Given the description of an element on the screen output the (x, y) to click on. 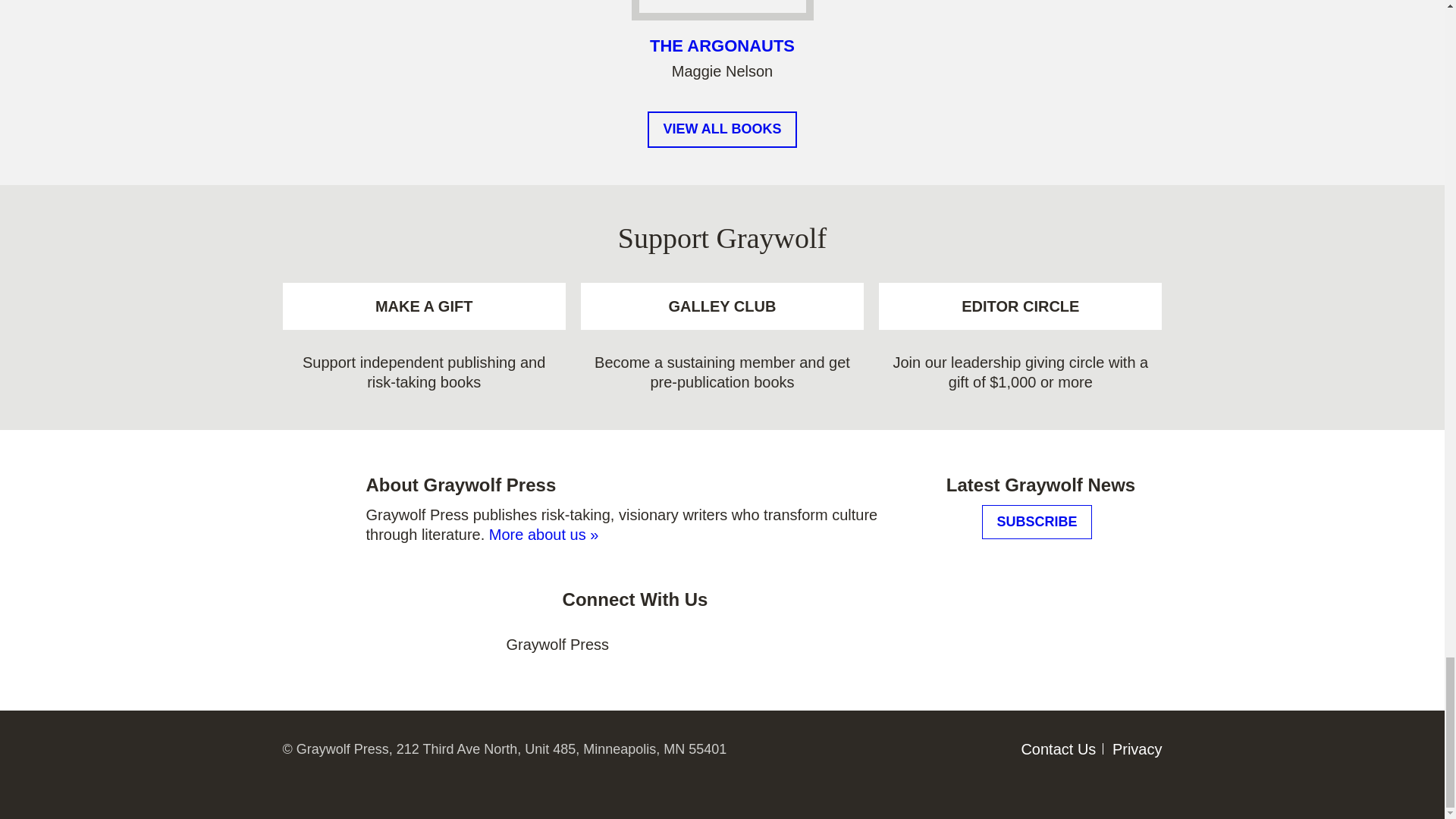
The Argonauts (722, 6)
Contact Us (1058, 749)
